Given the description of an element on the screen output the (x, y) to click on. 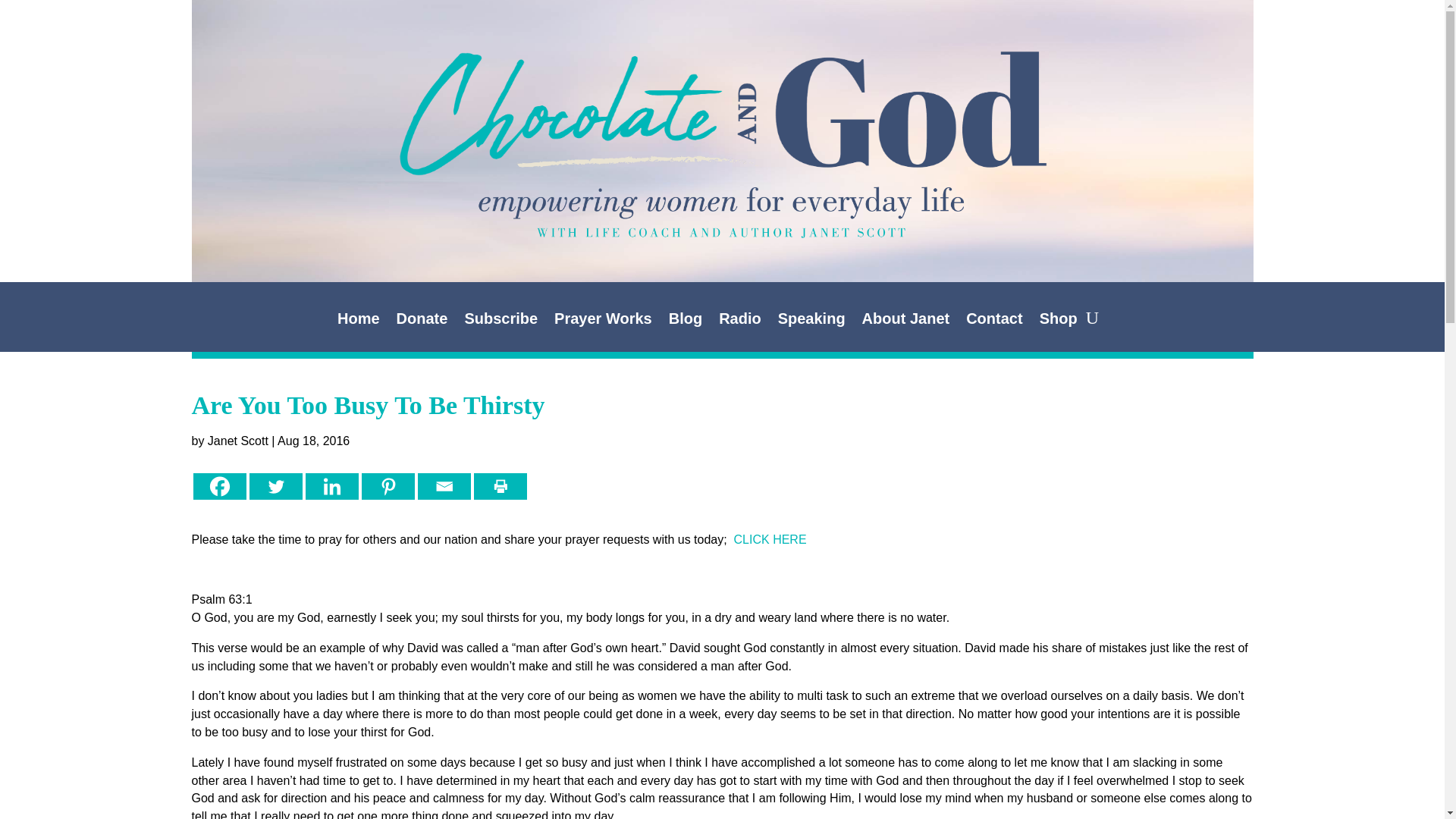
Blog (684, 321)
Linkedin (331, 486)
Pinterest (387, 486)
Speaking (811, 321)
main-logo (721, 111)
Twitter (274, 486)
Email (443, 486)
Home (358, 321)
tagline (722, 212)
About Janet (905, 321)
Facebook (219, 486)
Contact (994, 321)
Donate (422, 321)
Janet Scott (237, 440)
Prayer Works (603, 321)
